Given the description of an element on the screen output the (x, y) to click on. 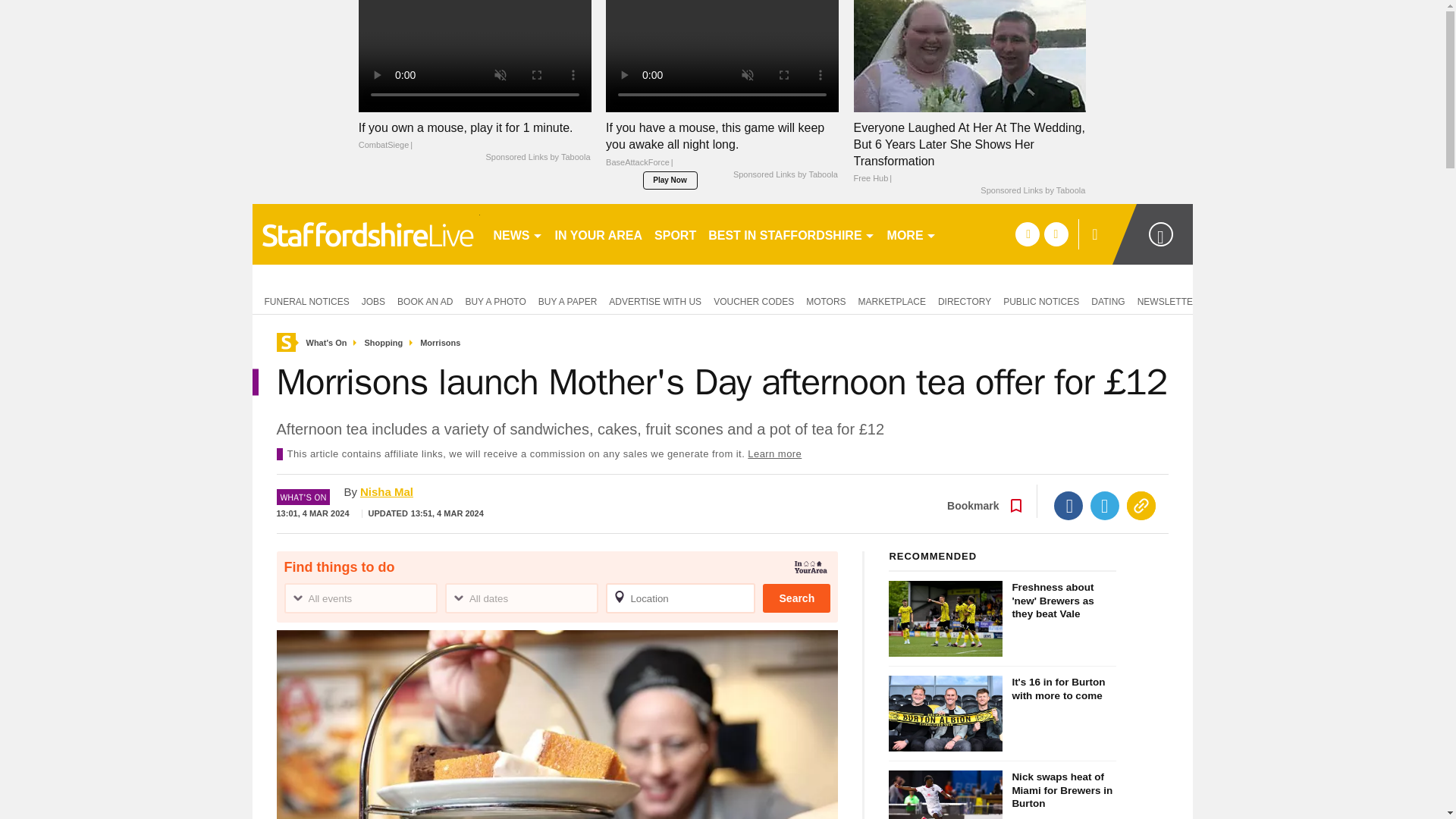
Twitter (1104, 505)
Sponsored Links by Taboola (1031, 190)
Sponsored Links by Taboola (536, 157)
MORE (911, 233)
IN YOUR AREA (598, 233)
twitter (1055, 233)
If you own a mouse, play it for 1 minute. (474, 55)
Facebook (1068, 505)
Sponsored Links by Taboola (785, 175)
If you own a mouse, play it for 1 minute. (474, 136)
Play Now (670, 180)
